Given the description of an element on the screen output the (x, y) to click on. 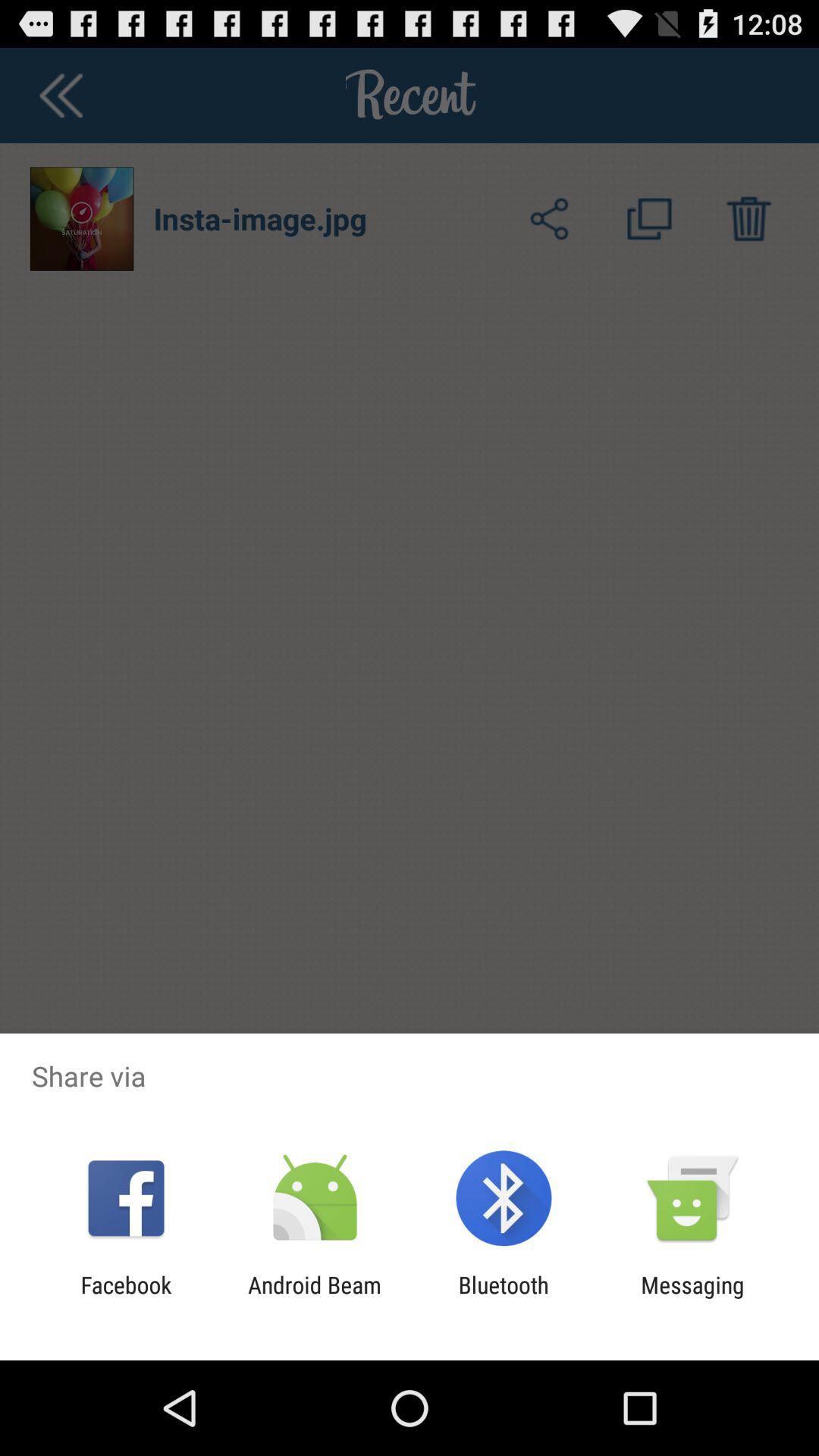
open item to the left of messaging (503, 1298)
